Given the description of an element on the screen output the (x, y) to click on. 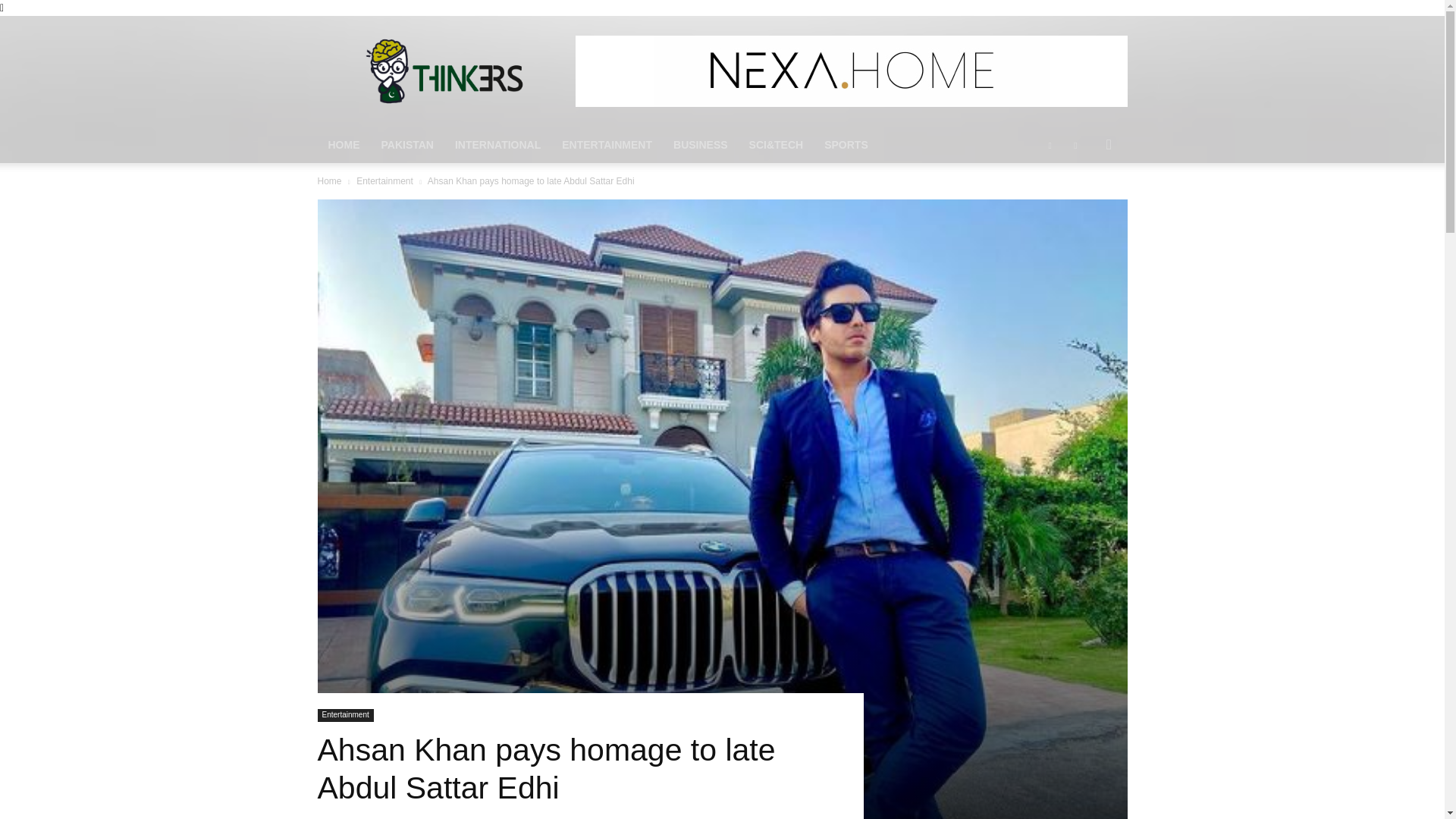
Search (1085, 205)
Entertainment (344, 715)
Entertainment (384, 181)
Home (328, 181)
BUSINESS (700, 144)
PAKISTAN (406, 144)
ENTERTAINMENT (606, 144)
SPORTS (846, 144)
View all posts in Entertainment (384, 181)
